Given the description of an element on the screen output the (x, y) to click on. 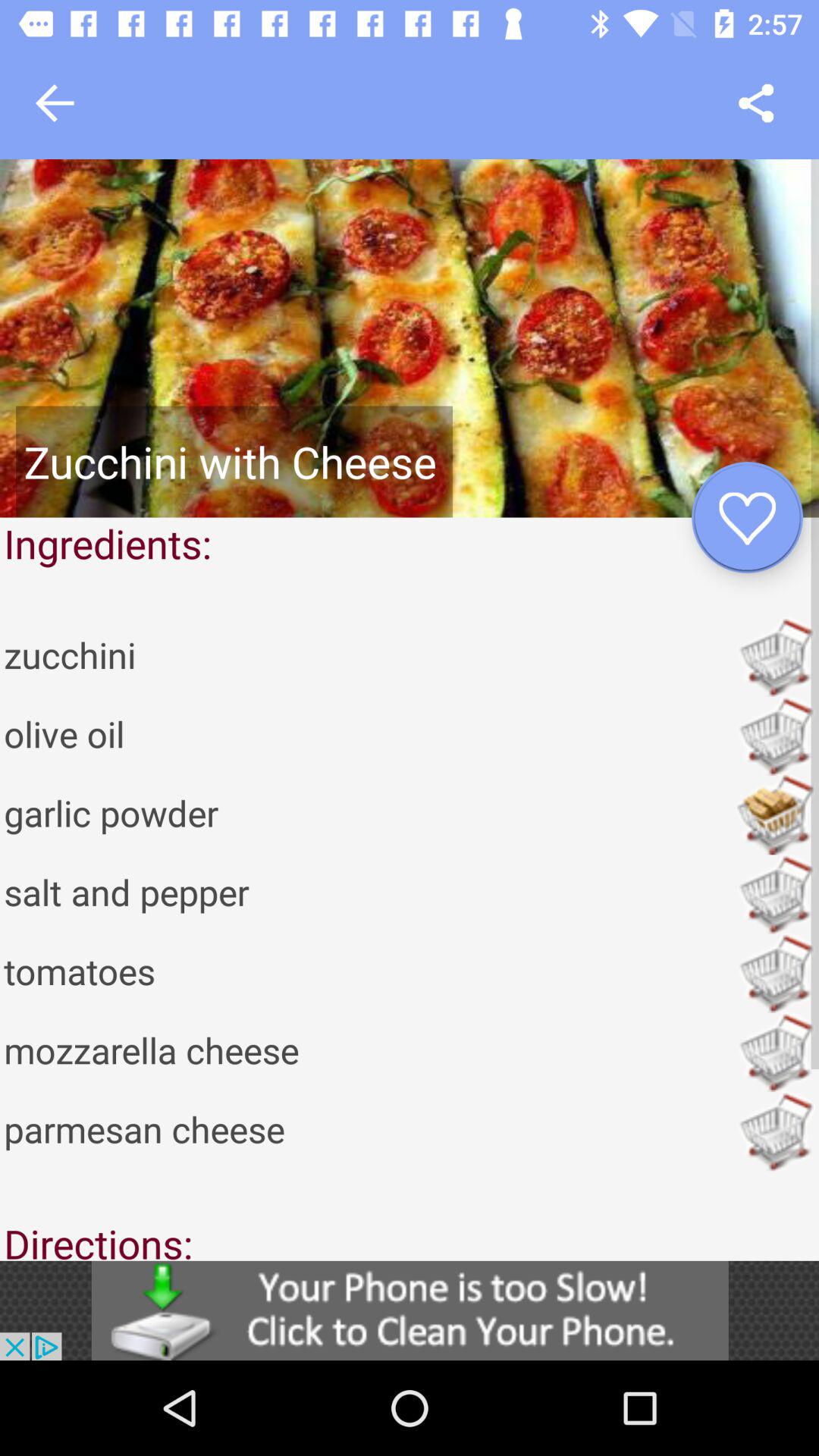
go to favourite (747, 517)
